Given the description of an element on the screen output the (x, y) to click on. 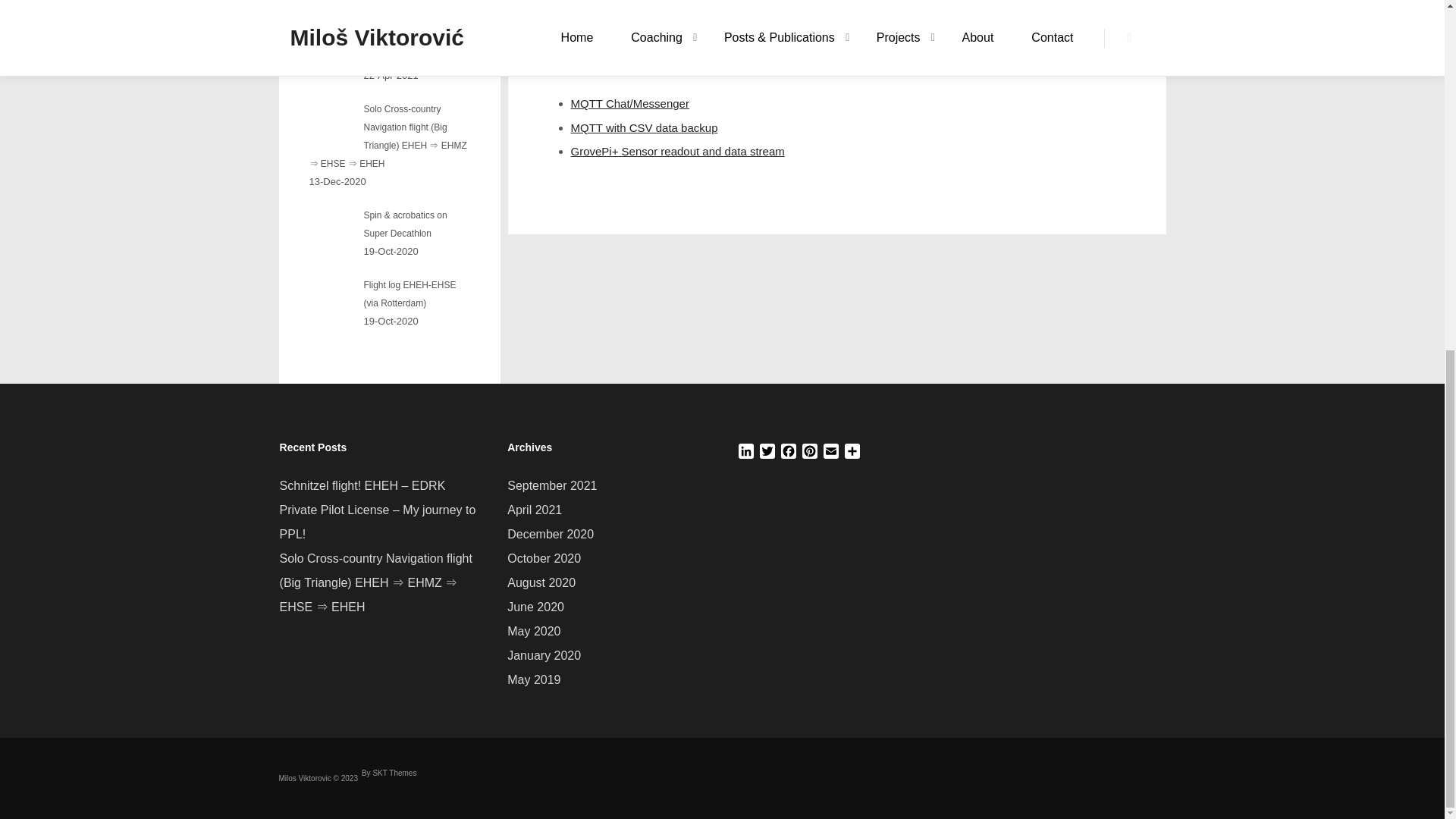
Everything you need to know about MQTT (660, 1)
Email (831, 452)
Twitter (767, 452)
LinkedIn (746, 452)
Pinterest (810, 452)
Facebook (788, 452)
MQTT with CSV data backup (643, 127)
